Given the description of an element on the screen output the (x, y) to click on. 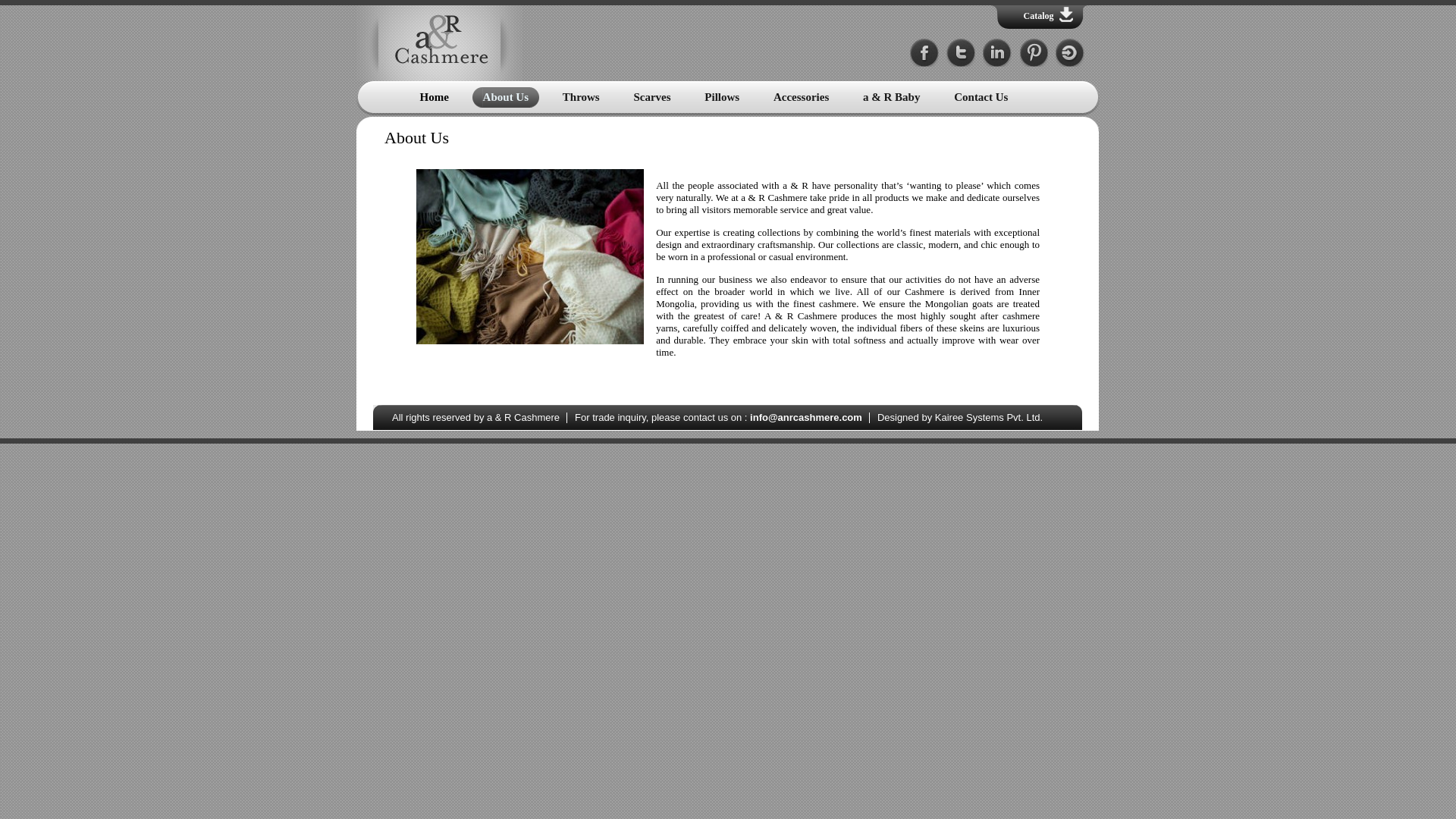
Log In Element type: hover (1069, 52)
Scarves Element type: text (651, 97)
Linkdin Element type: hover (996, 52)
Pillows Element type: text (721, 97)
Twitter Element type: hover (960, 52)
Home Element type: text (434, 97)
Pinterest Element type: hover (1033, 52)
a&R Cashmere Element type: hover (439, 43)
Accessories Element type: text (800, 97)
a & R Baby Element type: text (891, 97)
Catalog       Element type: text (1045, 16)
Throws Element type: text (581, 97)
Kairee Systems Pvt. Ltd. Element type: text (988, 417)
Facebook Element type: hover (924, 52)
About Us Element type: text (505, 97)
Contact Us Element type: text (980, 97)
